Given the description of an element on the screen output the (x, y) to click on. 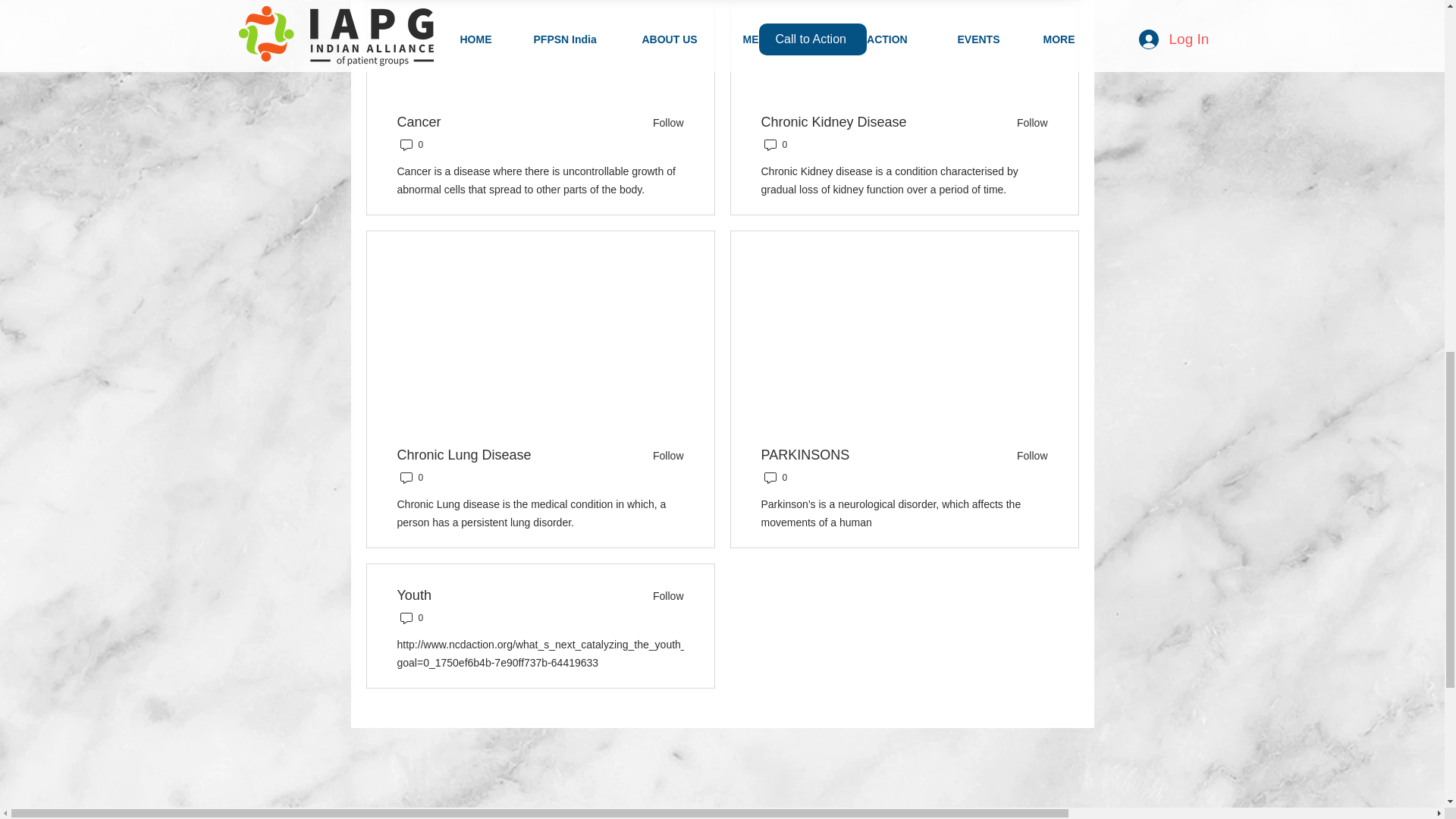
Chronic Lung Disease (464, 455)
Youth (413, 595)
Cancer (419, 122)
Follow (662, 454)
Follow (662, 122)
Follow (662, 595)
